Given the description of an element on the screen output the (x, y) to click on. 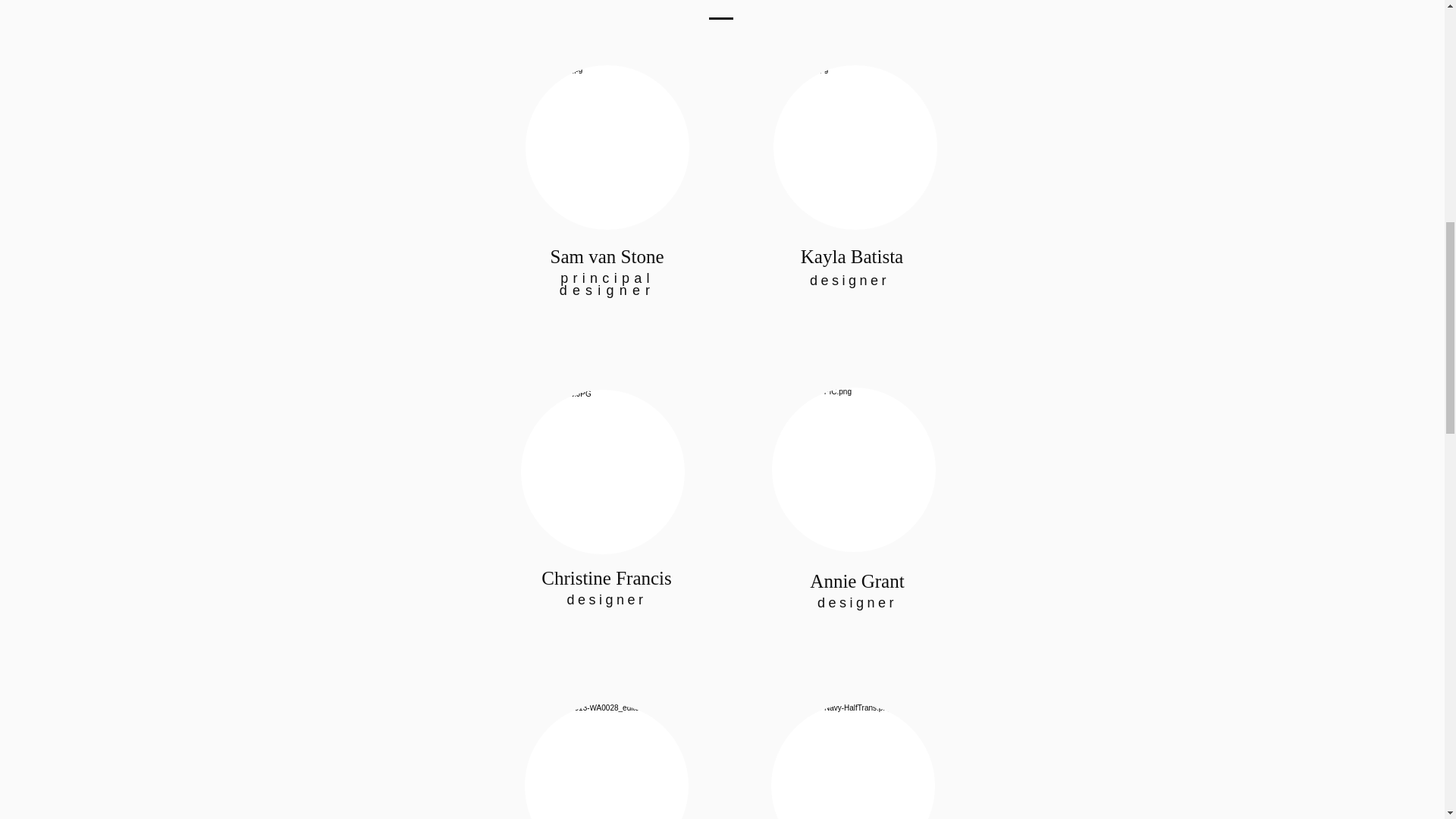
Kayla the Intermediate Designer (855, 147)
Kayla the Intermediate Designer (853, 469)
Sam the Principal Designer  (606, 147)
Ashley the Financial Officer (601, 471)
Ashley the Financial Officer (852, 761)
Ashley the Financial Officer (606, 761)
